Given the description of an element on the screen output the (x, y) to click on. 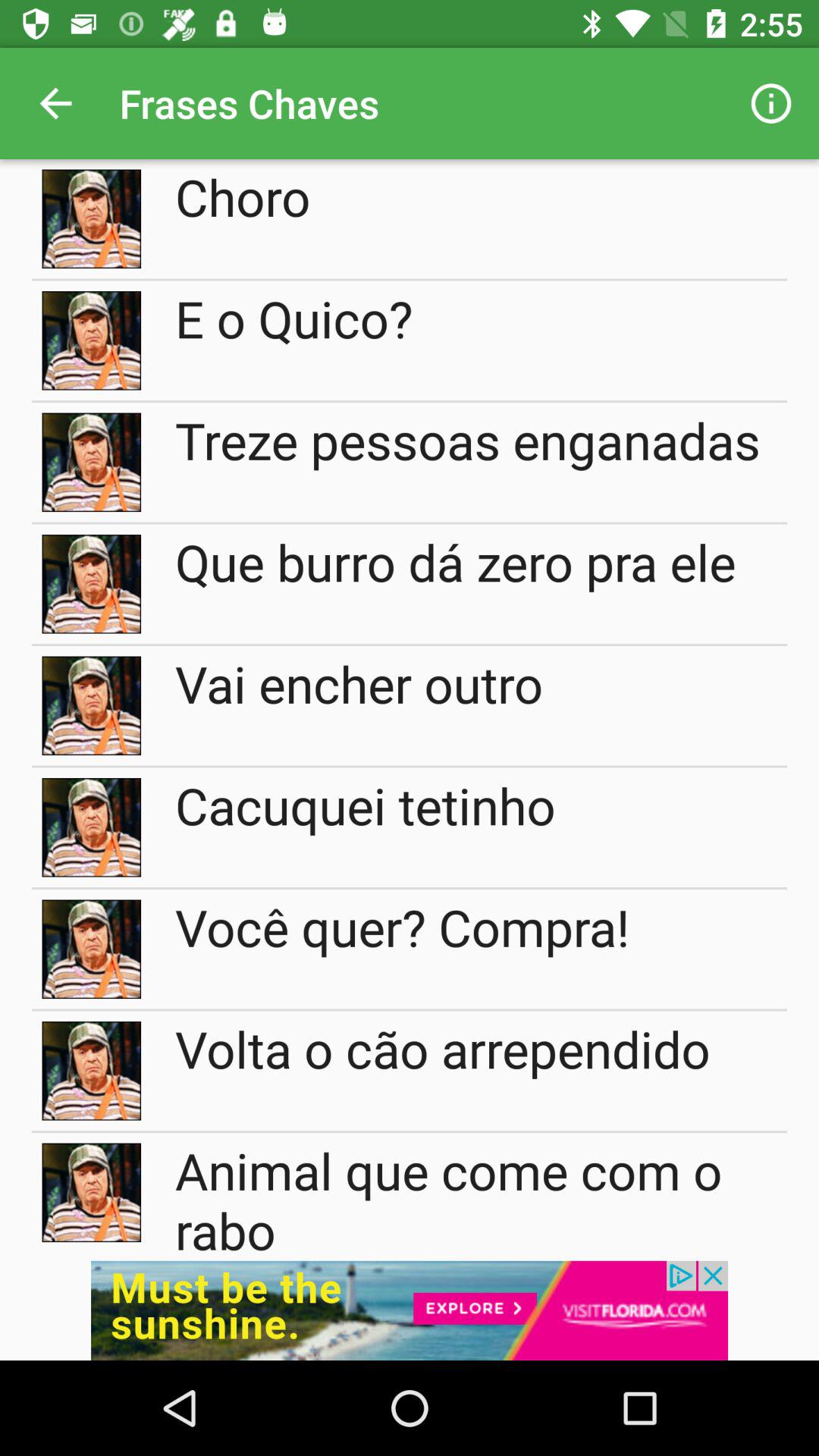
display advertisement (409, 1310)
